Given the description of an element on the screen output the (x, y) to click on. 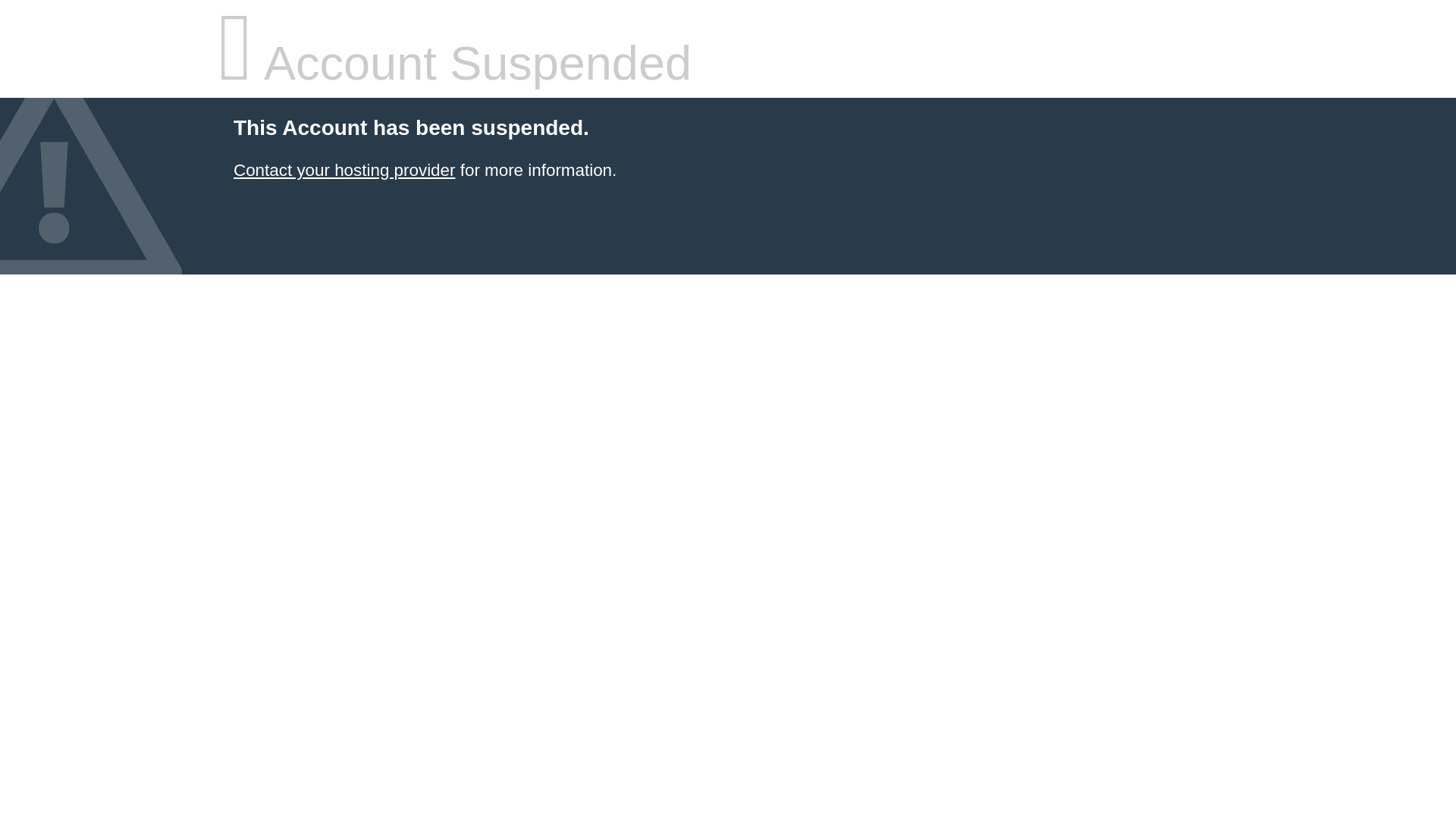
Contact your hosting provider (343, 169)
